Given the description of an element on the screen output the (x, y) to click on. 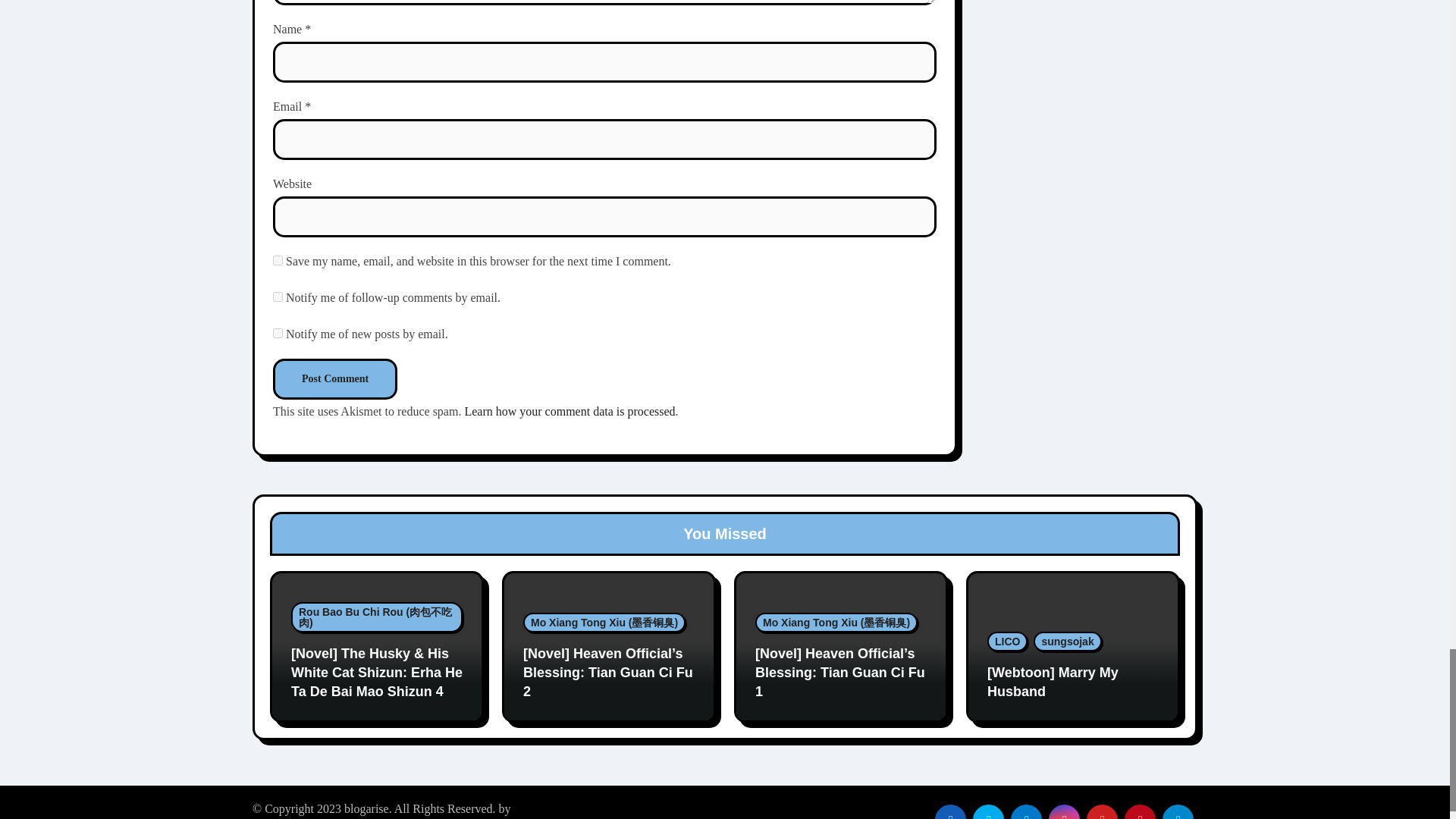
Post Comment (335, 378)
subscribe (277, 296)
yes (277, 260)
subscribe (277, 333)
